Given the description of an element on the screen output the (x, y) to click on. 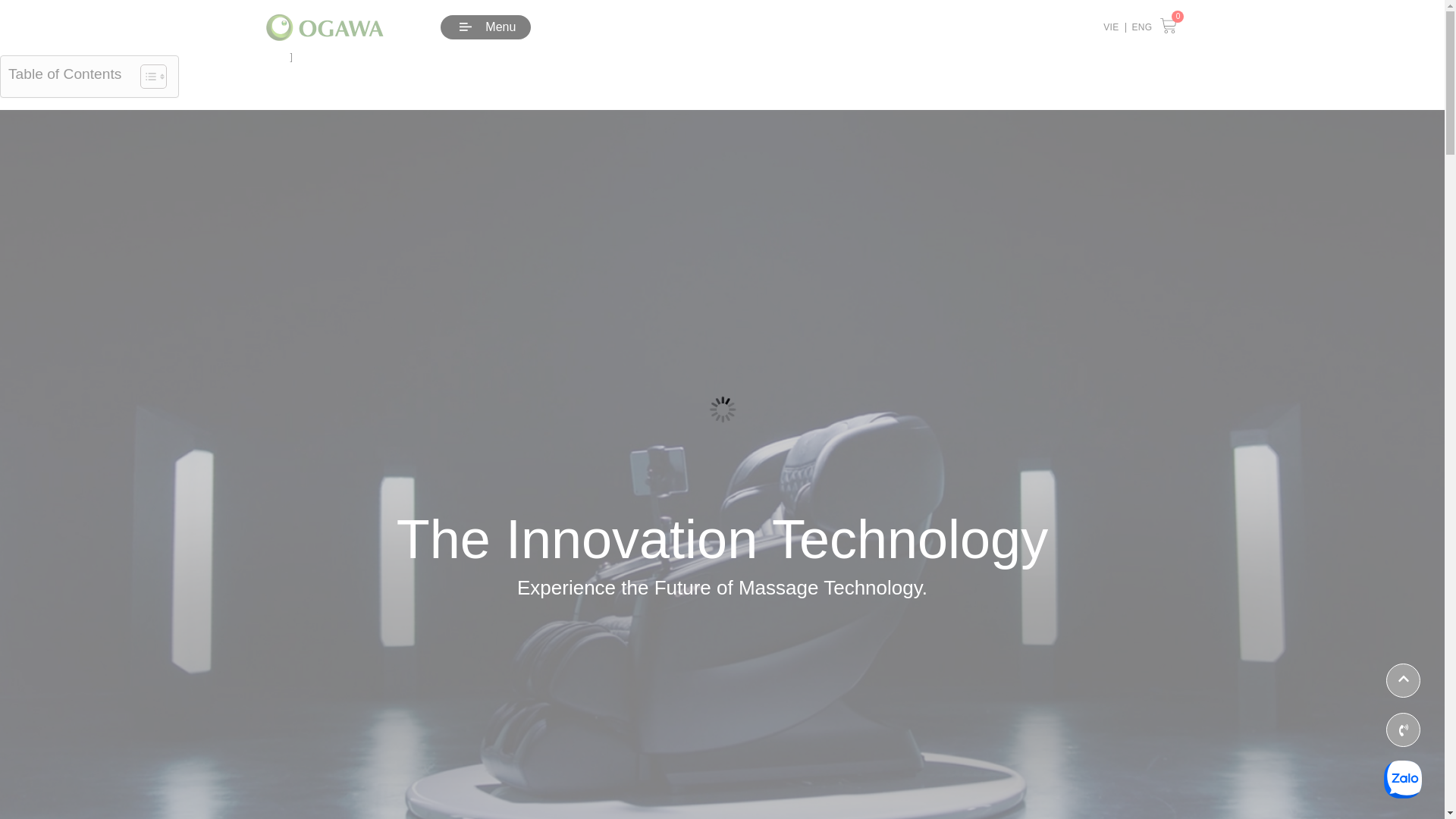
ENG (1141, 27)
VIE (1110, 27)
Menu (486, 27)
